Given the description of an element on the screen output the (x, y) to click on. 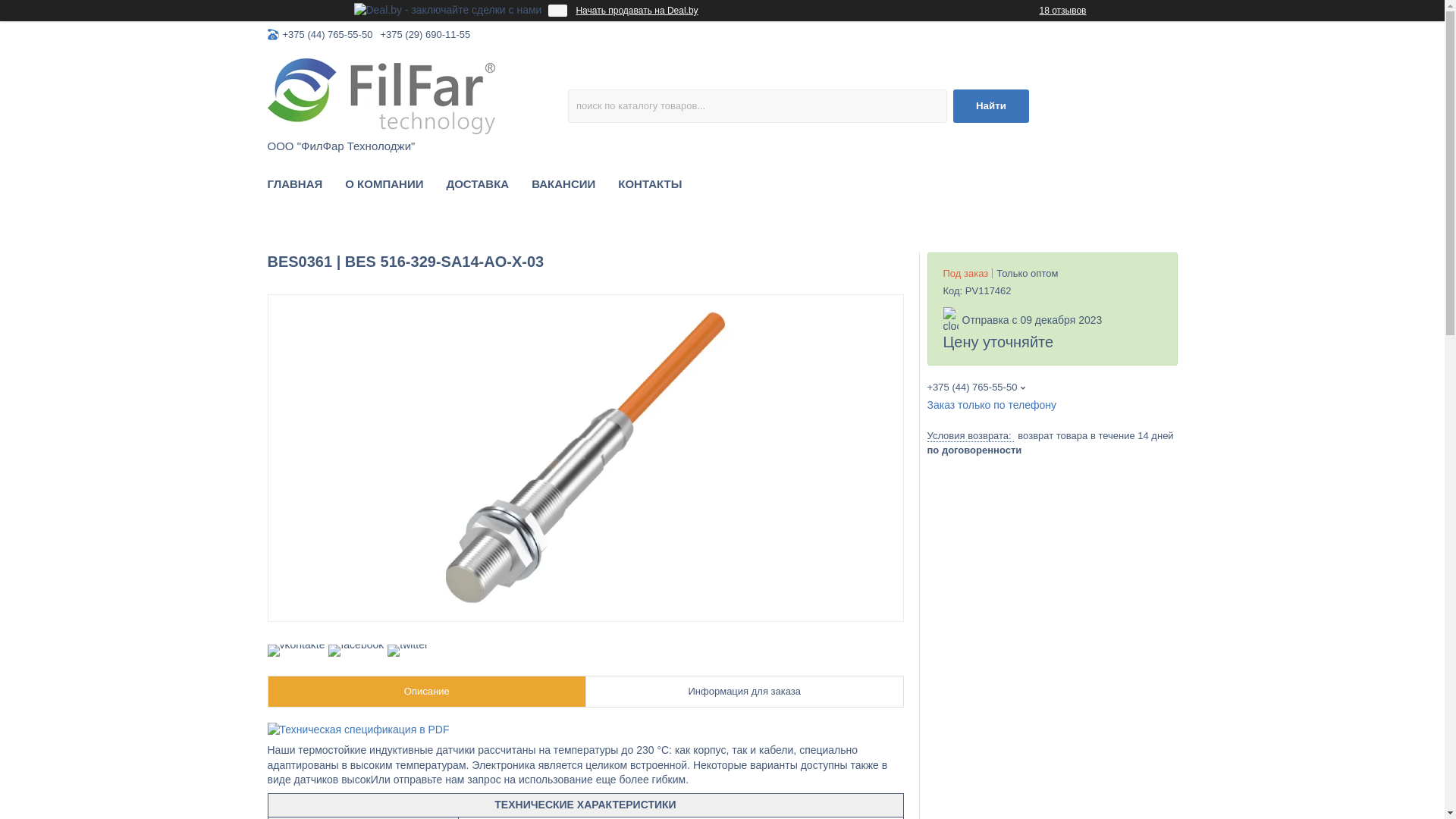
facebook Element type: hover (355, 644)
twitter Element type: hover (407, 644)
